Given the description of an element on the screen output the (x, y) to click on. 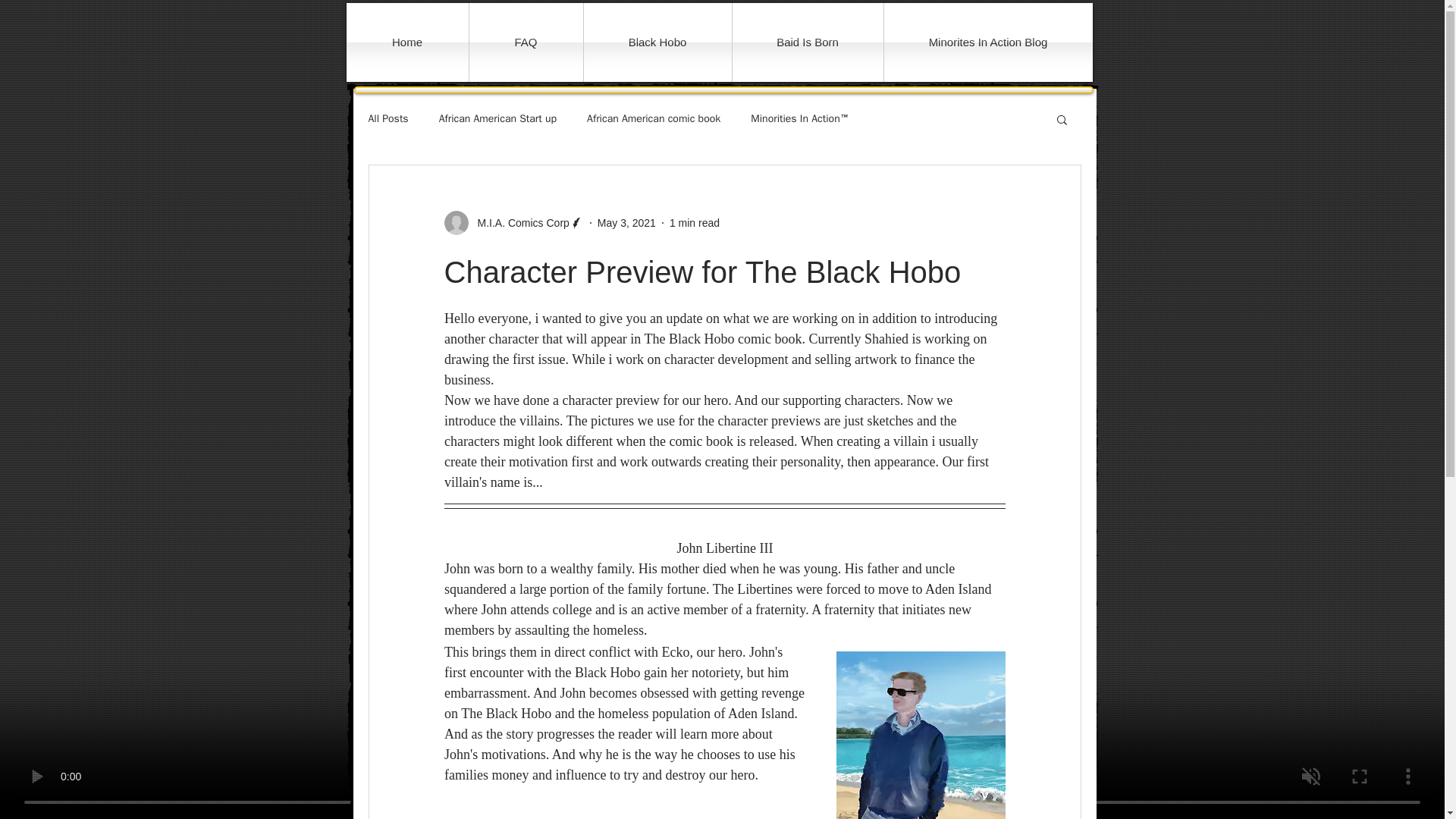
May 3, 2021 (626, 223)
Home (406, 42)
1 min read (694, 223)
M.I.A. Comics Corp (518, 222)
All Posts (388, 119)
African American comic book (653, 119)
M.I.A. Comics Corp (513, 222)
African American Start up (497, 119)
Baid Is Born (807, 42)
Minorites In Action Blog (988, 42)
Black Hobo (657, 42)
FAQ (525, 42)
